Given the description of an element on the screen output the (x, y) to click on. 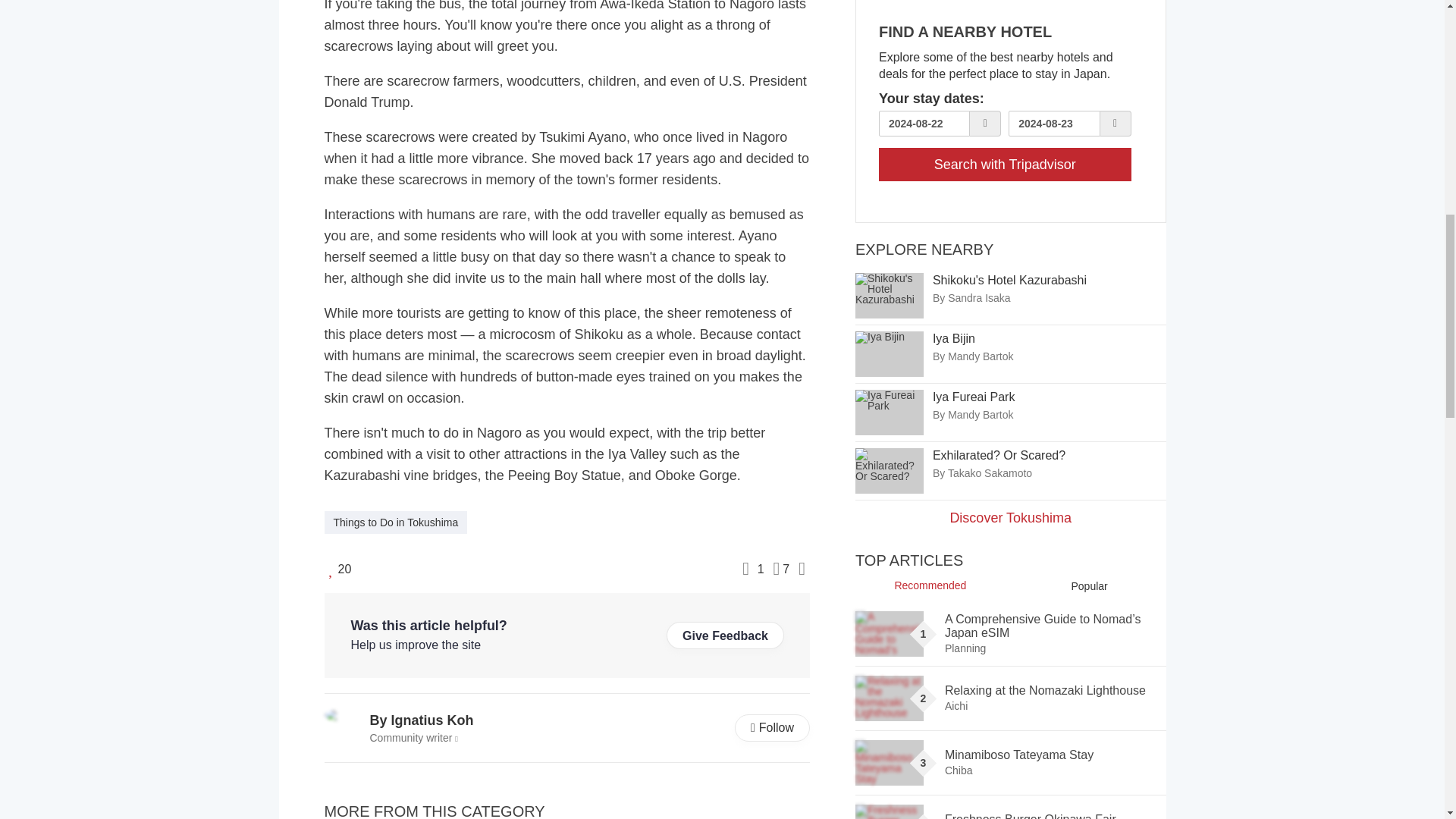
Iya Fureai Park (889, 411)
7 (781, 568)
Exhilarated? Or Scared? (889, 470)
2024-08-23 (1054, 123)
Shikoku's Hotel Kazurabashi (889, 295)
Relaxing at the Nomazaki Lighthouse (889, 698)
Iya Bijin  (889, 353)
2024-08-22 (924, 123)
Ignatius Koh (343, 715)
Minamiboso Tateyama Stay (889, 762)
